Given the description of an element on the screen output the (x, y) to click on. 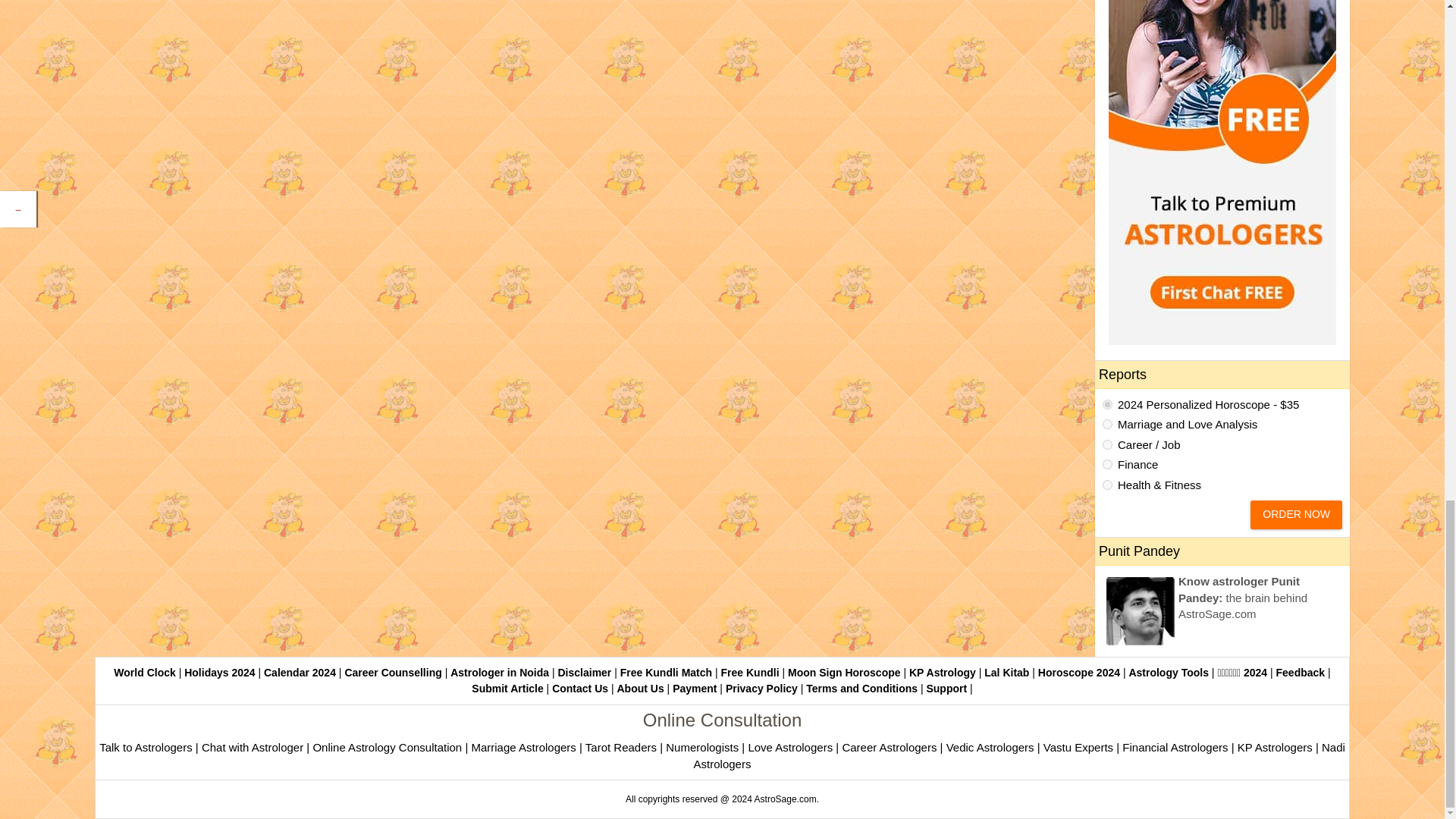
2016-personalized-horoscope-new (1107, 404)
career-job-new2 (1107, 444)
finance-new2 (1107, 464)
health-fitness (1107, 484)
marriage-and-love-analysis-new2 (1107, 424)
